Given the description of an element on the screen output the (x, y) to click on. 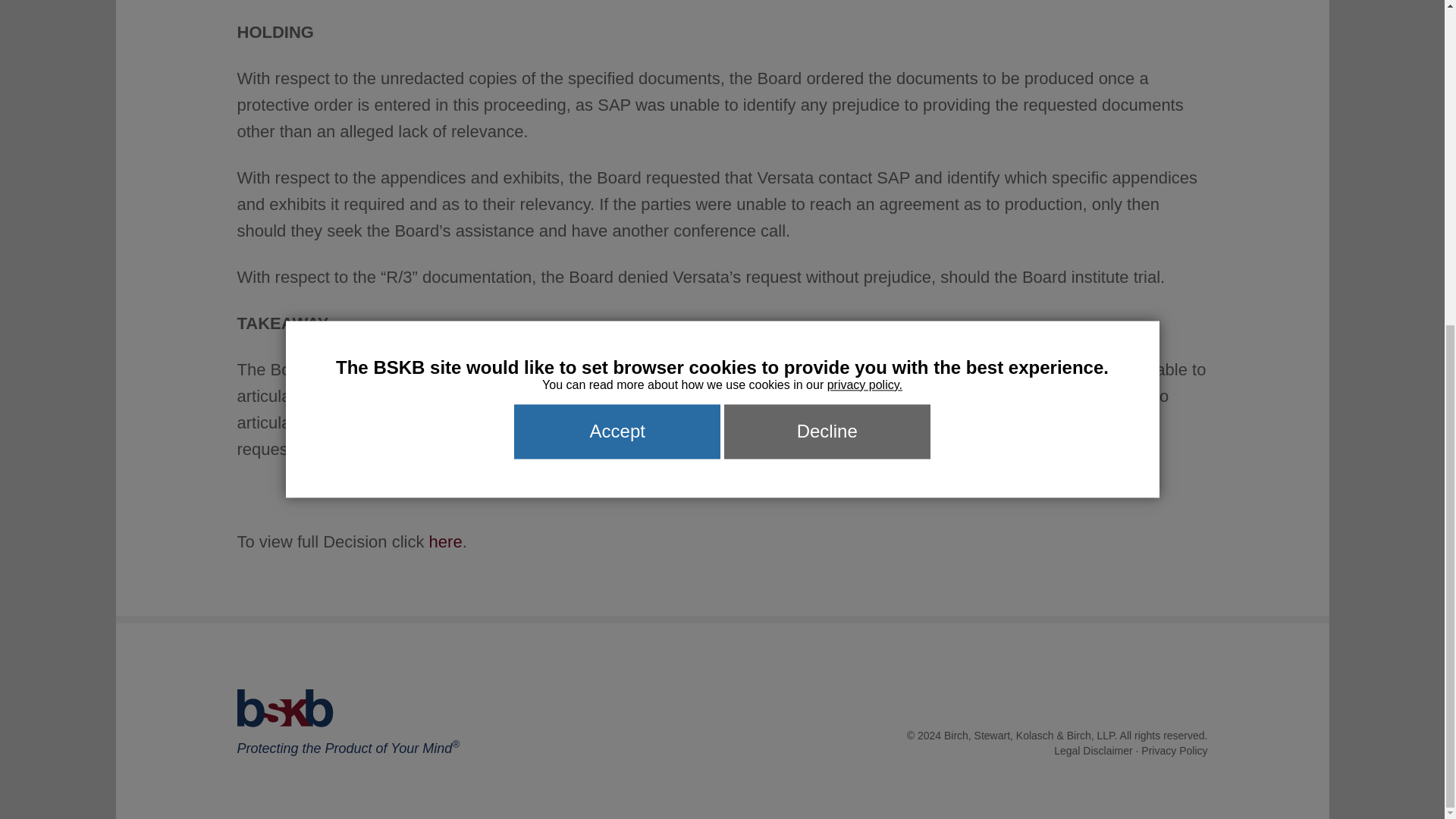
here (446, 541)
Legal Disclaimer (1093, 750)
Privacy Policy (1174, 750)
